Given the description of an element on the screen output the (x, y) to click on. 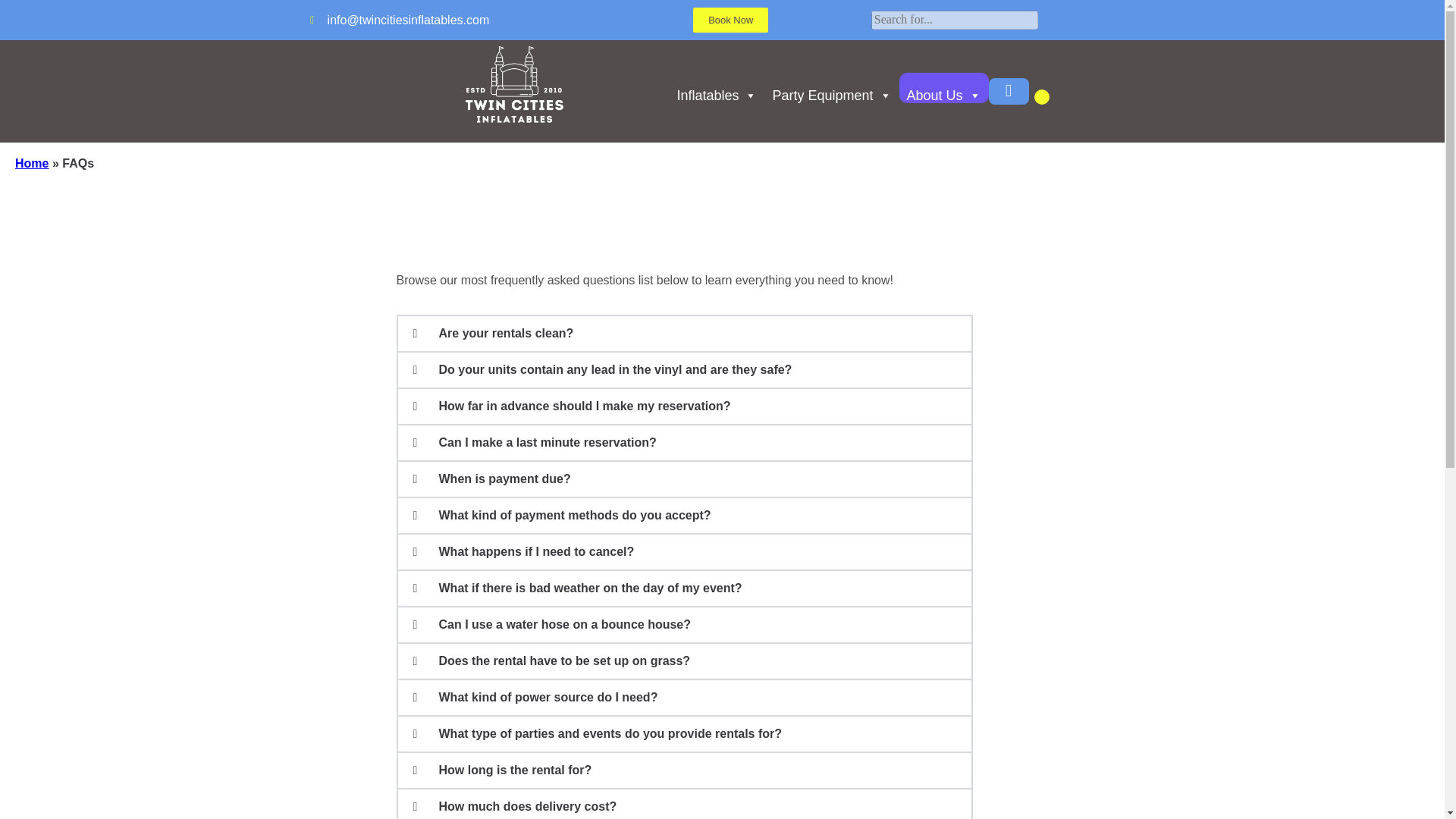
How far in advance should I make my reservation? (584, 405)
Are your rentals clean? (505, 332)
What kind of payment methods do you accept? (574, 514)
When is payment due? (504, 478)
Party Equipment (831, 87)
About Us (943, 87)
Can I make a last minute reservation? (547, 441)
Home (31, 163)
Search (22, 9)
Book Now (730, 19)
